Given the description of an element on the screen output the (x, y) to click on. 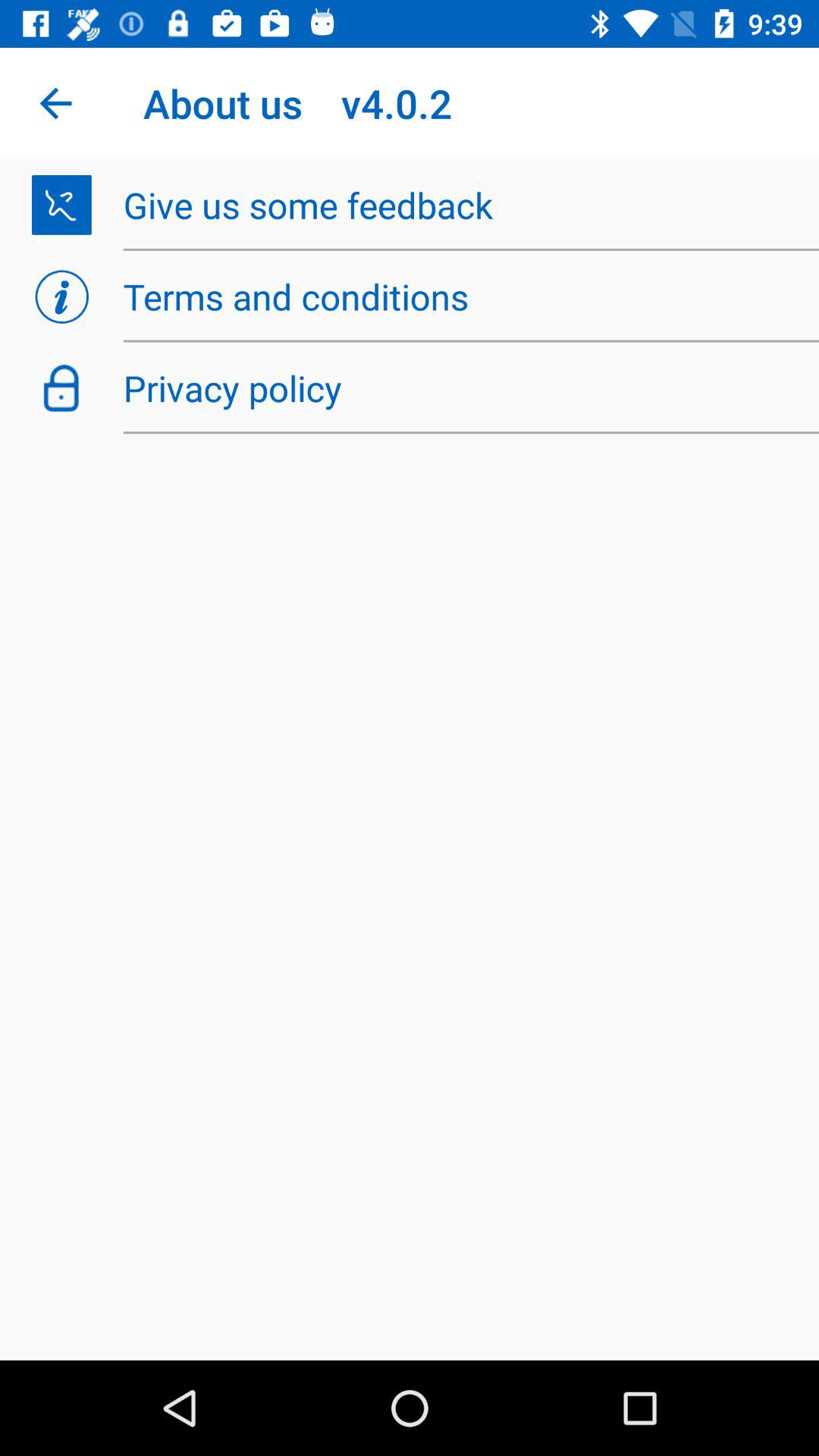
choose the give us some item (463, 204)
